Given the description of an element on the screen output the (x, y) to click on. 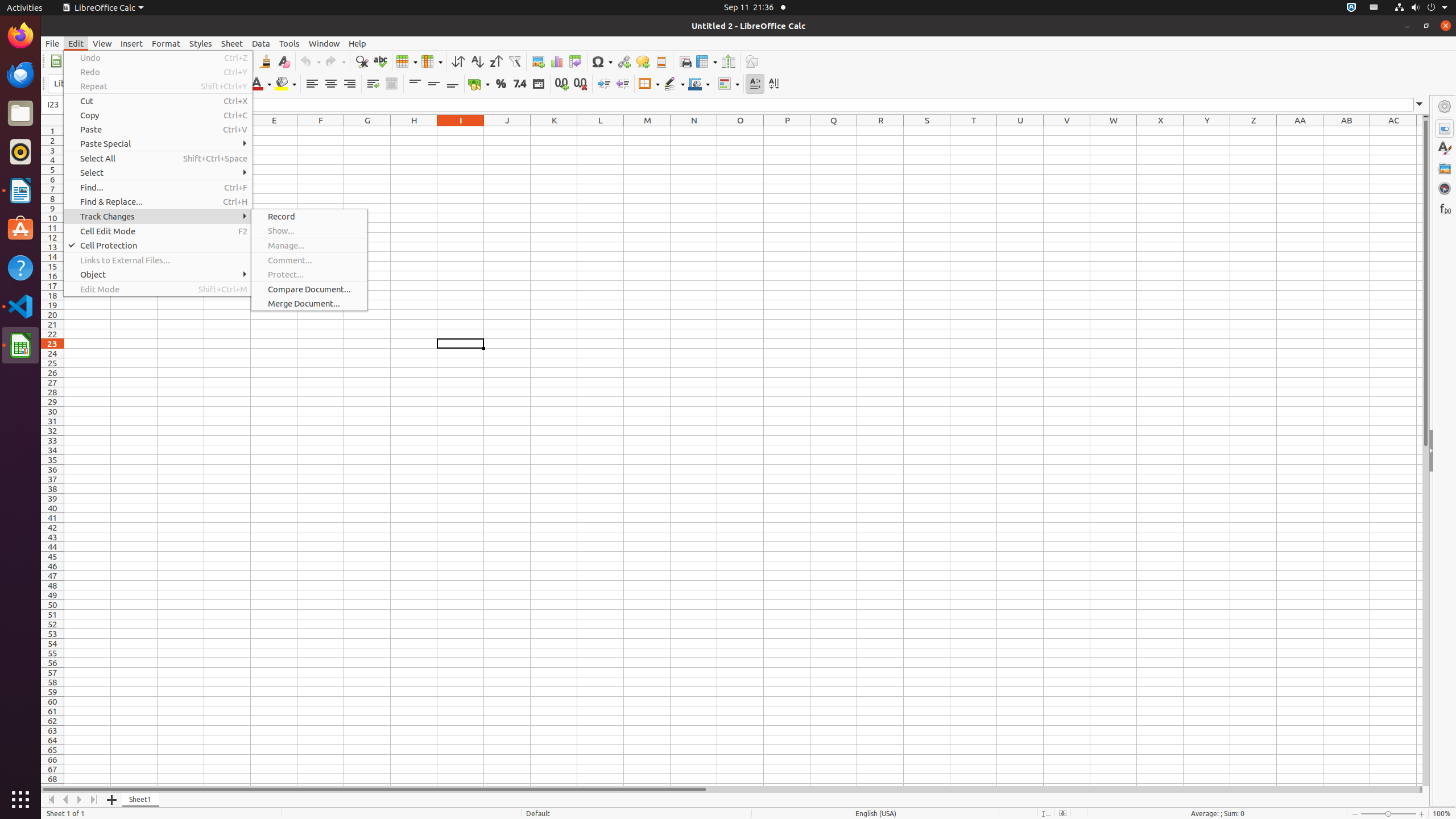
Z1 Element type: table-cell (1253, 130)
Merge Document... Element type: menu-item (309, 303)
Sheet Element type: menu (231, 43)
Align Top Element type: push-button (414, 83)
